Given the description of an element on the screen output the (x, y) to click on. 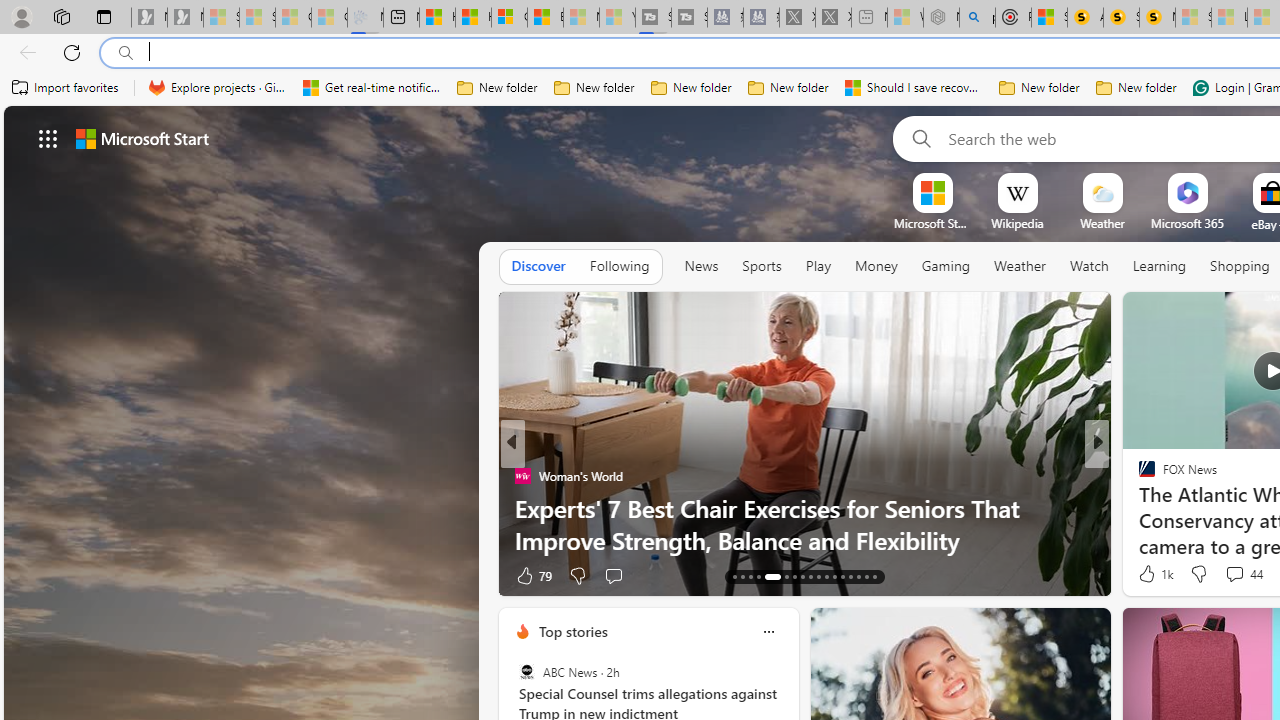
View comments 1 Comment (1241, 574)
Refresh (72, 52)
App launcher (47, 138)
Streaming Coverage | T3 - Sleeping (653, 17)
New tab - Sleeping (869, 17)
Start the conversation (1222, 575)
Tribune News Service (1138, 475)
Michelle Starr, Senior Journalist at ScienceAlert (1157, 17)
View comments 44 Comment (1243, 574)
Money (876, 267)
CNBC (1138, 475)
AutomationID: tab-28 (865, 576)
